Given the description of an element on the screen output the (x, y) to click on. 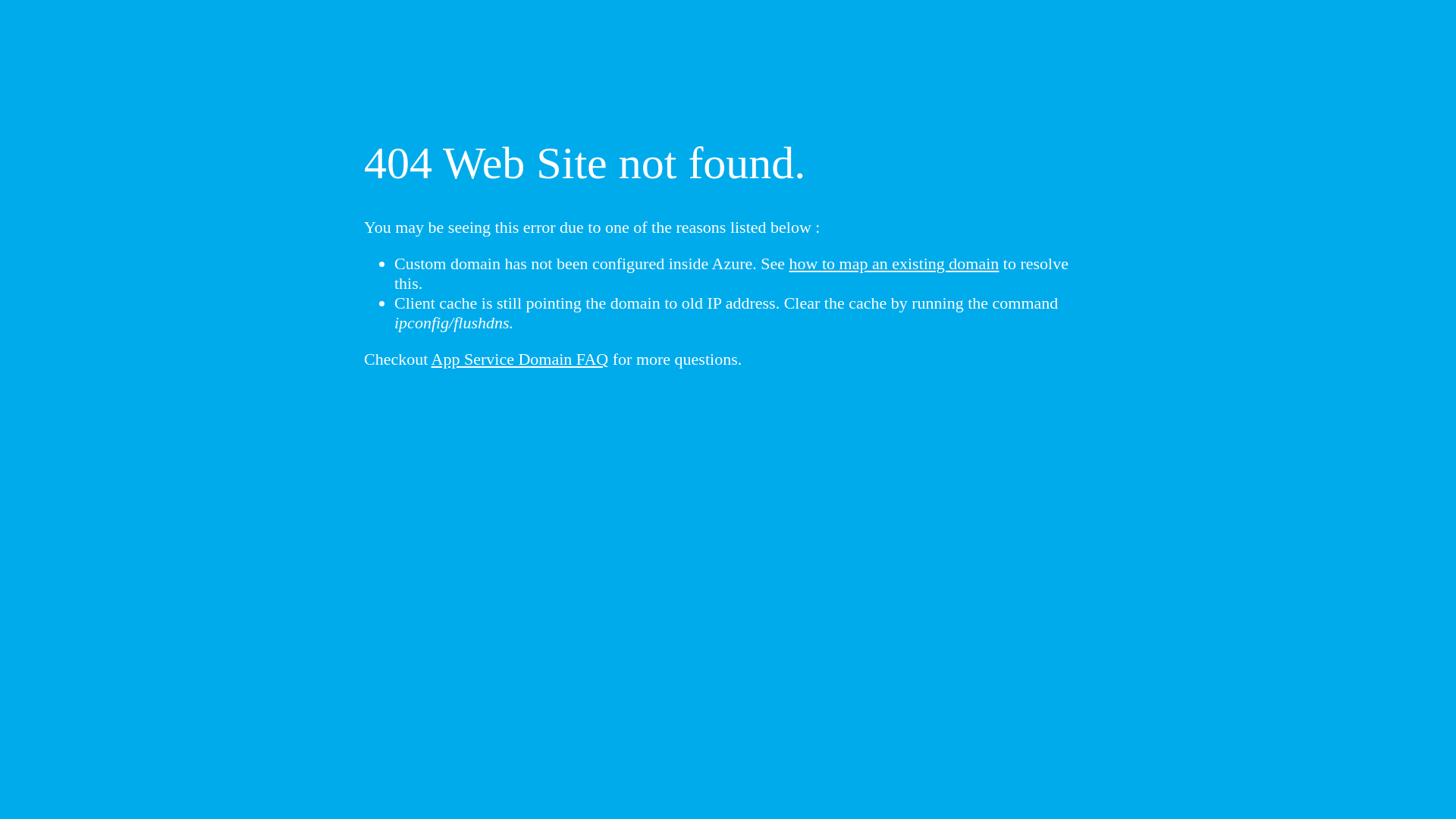
how to map an existing domain Element type: text (894, 263)
App Service Domain FAQ Element type: text (519, 358)
